Given the description of an element on the screen output the (x, y) to click on. 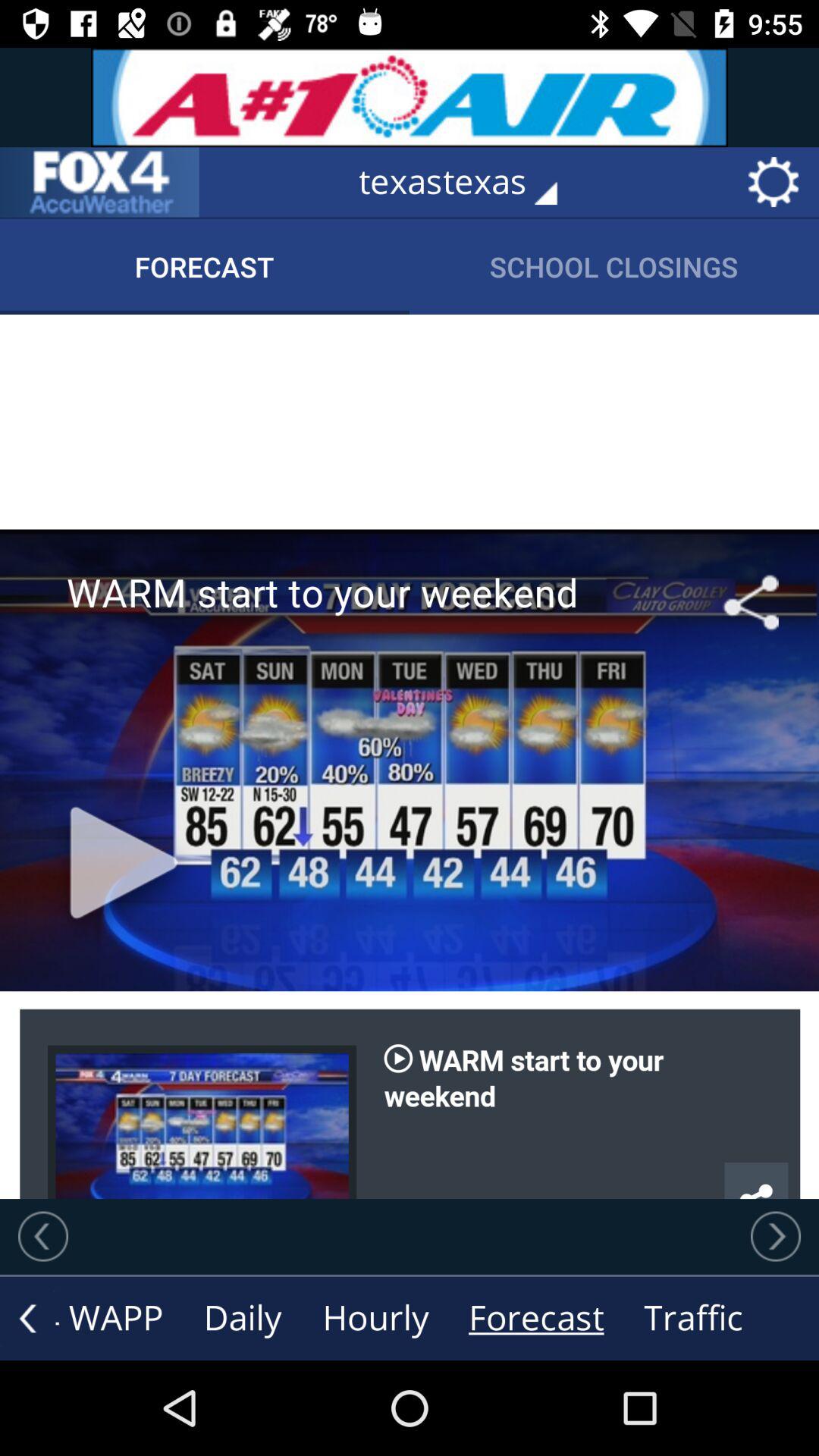
scroll to the texastexas item (468, 182)
